Given the description of an element on the screen output the (x, y) to click on. 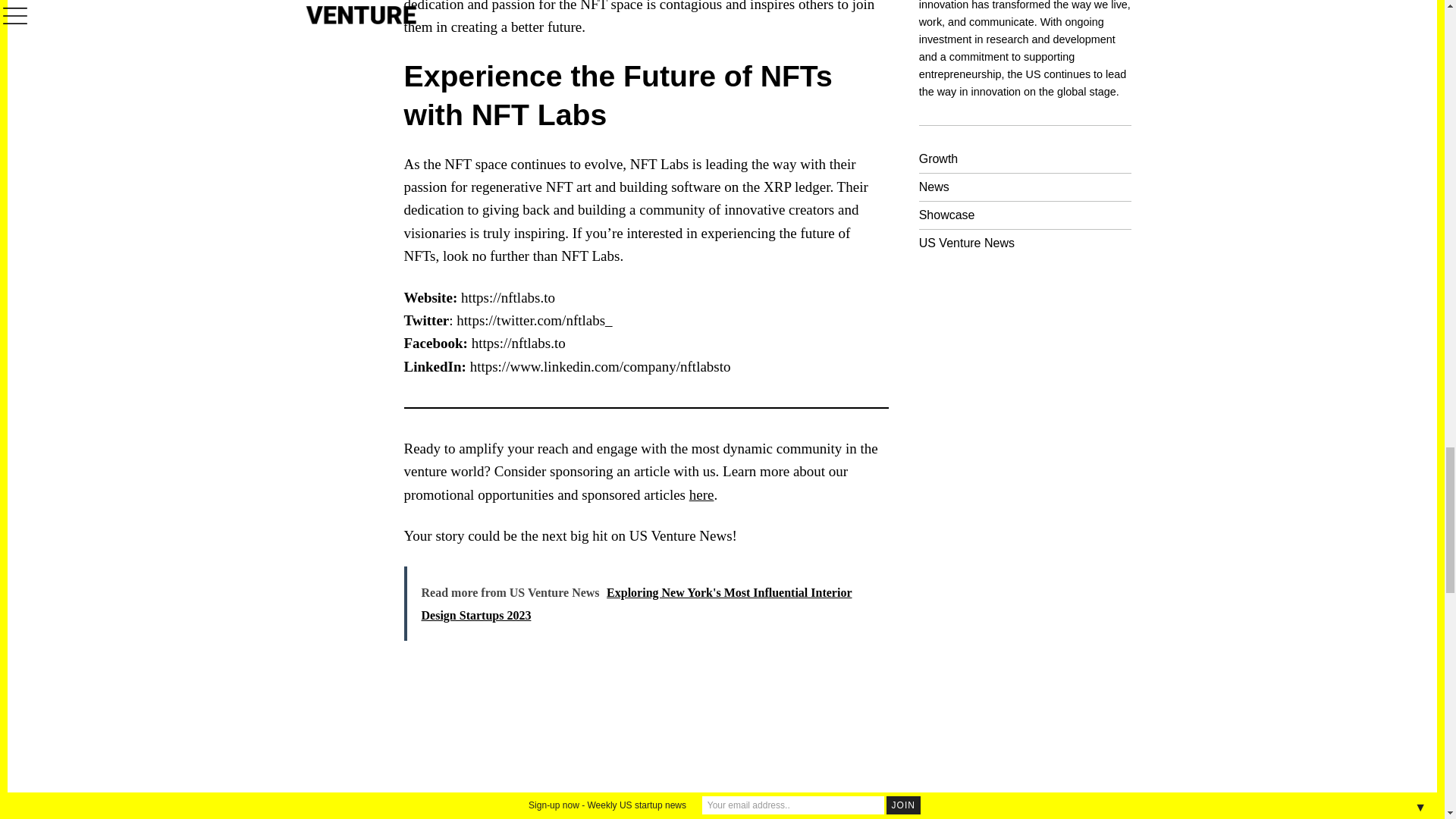
Growth (938, 158)
Advertisement (708, 752)
here (701, 494)
